Given the description of an element on the screen output the (x, y) to click on. 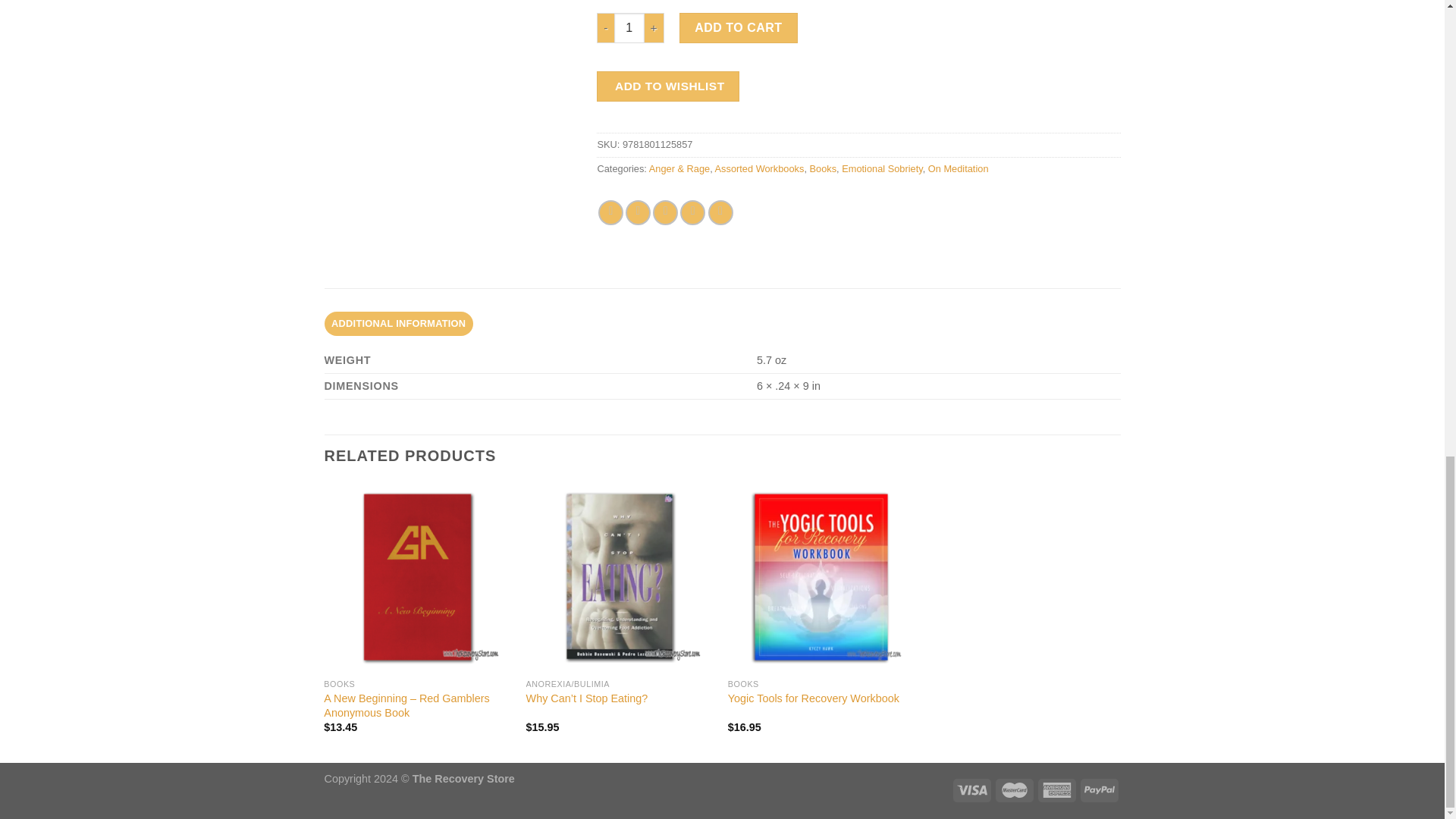
Share on LinkedIn (720, 212)
Pin on Pinterest (691, 212)
Share on Facebook (610, 212)
1 (629, 27)
Share on Twitter (638, 212)
Email to a Friend (665, 212)
